Given the description of an element on the screen output the (x, y) to click on. 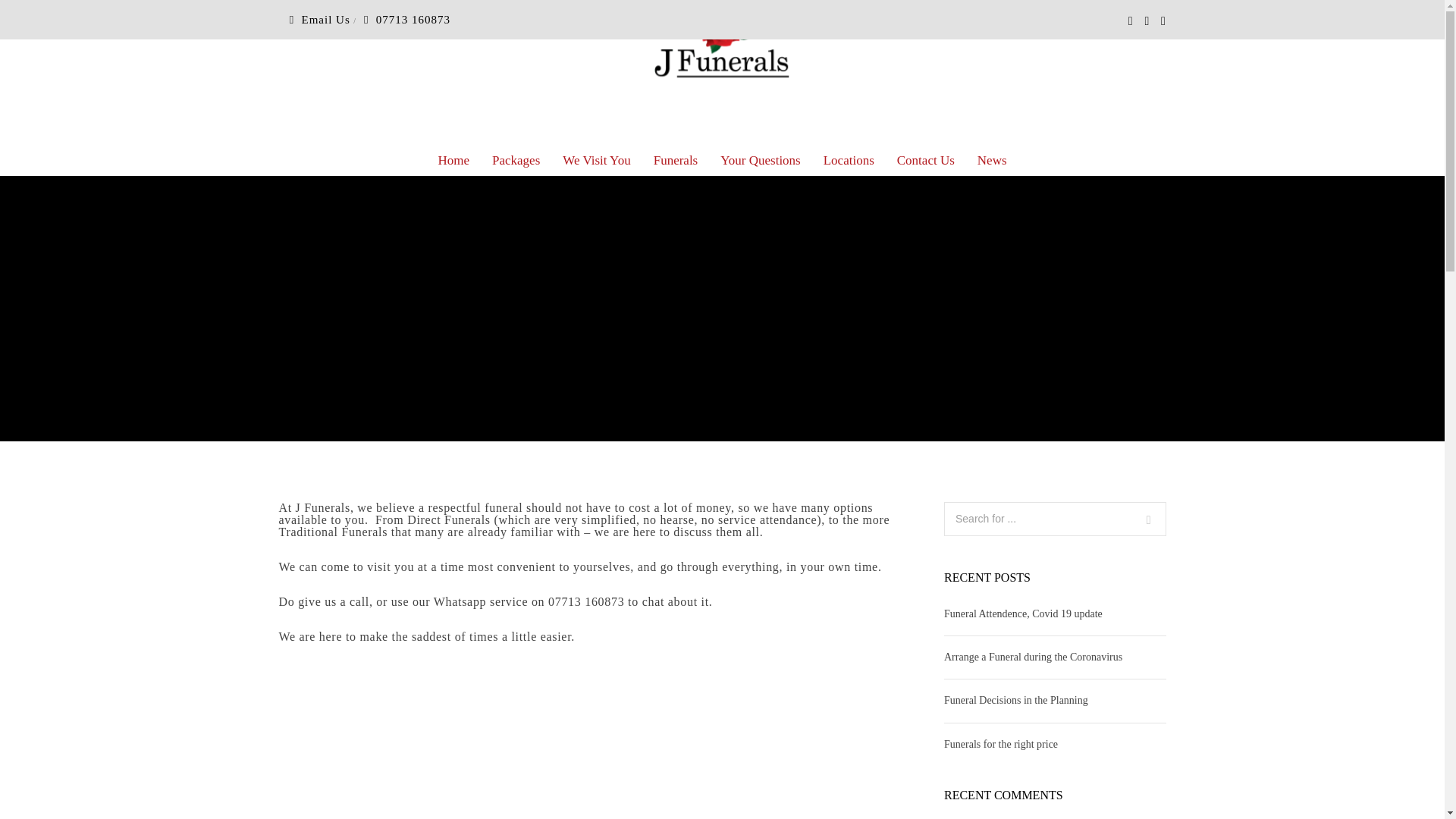
Arrange a Funeral during the Coronavirus (1032, 656)
Contact Us (925, 160)
Home (453, 160)
Your Questions (760, 160)
News (991, 160)
We Visit You (596, 160)
Funeral Decisions in the Planning (1015, 699)
Funerals for the right price (1000, 744)
Locations (848, 160)
Funerals (676, 160)
